Given the description of an element on the screen output the (x, y) to click on. 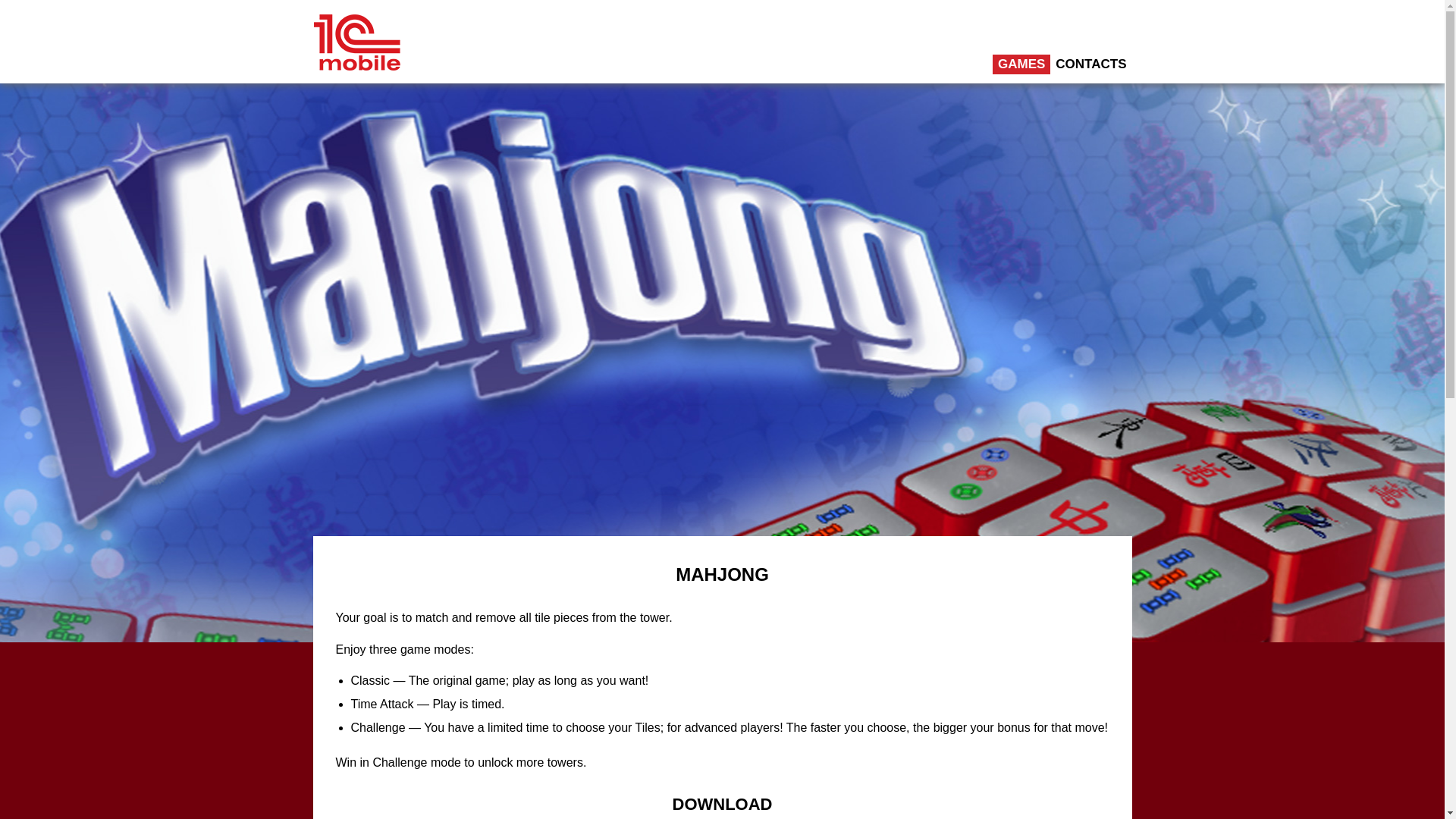
GAMES Element type: text (1021, 64)
CONTACTS Element type: text (1090, 64)
